Given the description of an element on the screen output the (x, y) to click on. 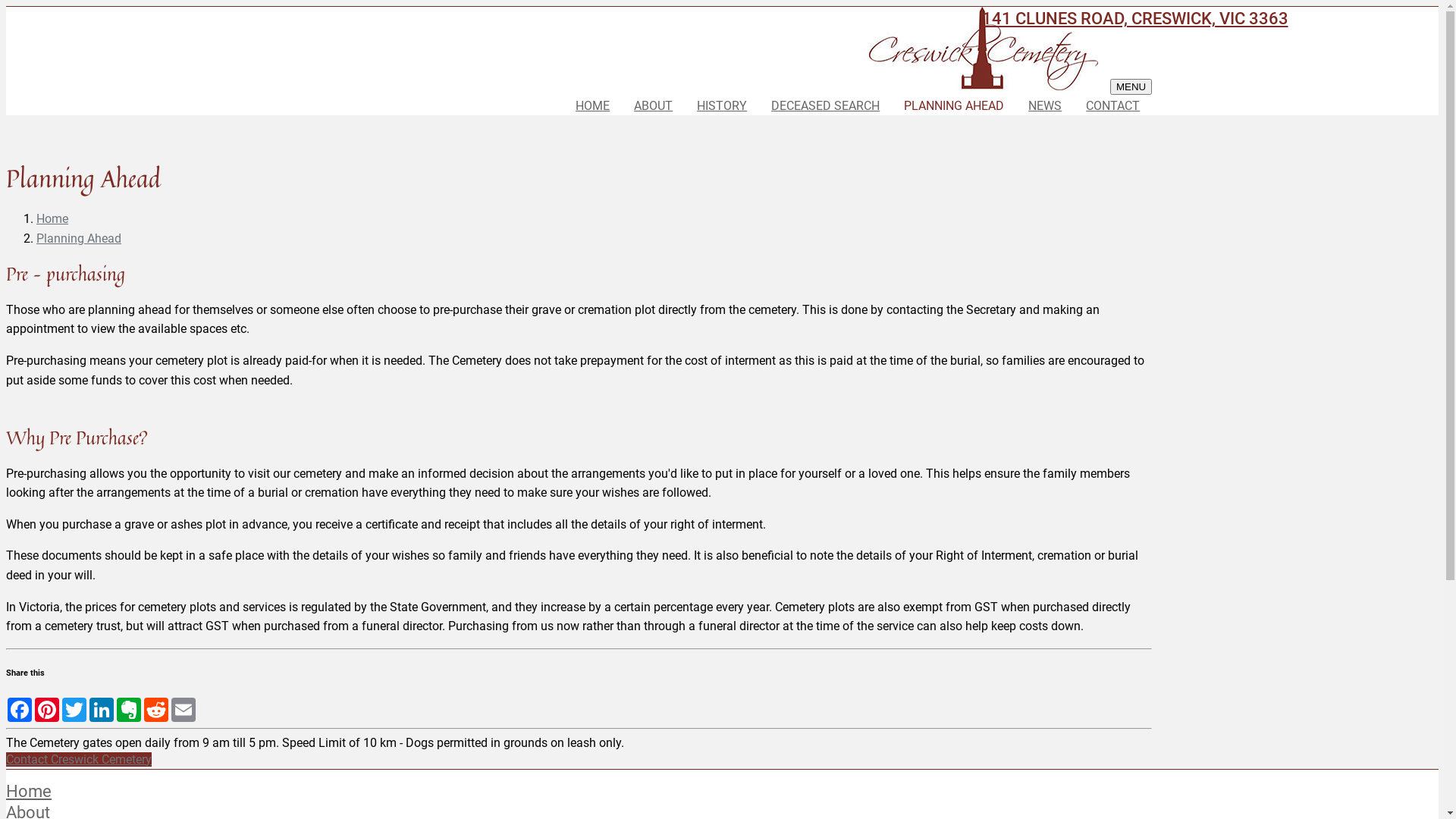
LinkedIn Element type: text (101, 709)
Pinterest Element type: text (46, 709)
HOME Element type: text (592, 105)
Contact Creswick Cemetery Element type: text (78, 759)
Email Element type: text (183, 709)
CONTACT Element type: text (1112, 105)
Home Element type: text (28, 790)
NEWS Element type: text (1044, 105)
HISTORY Element type: text (721, 105)
Twitter Element type: text (73, 709)
Reddit Element type: text (155, 709)
Facebook Element type: text (19, 709)
141 CLUNES ROAD, CRESWICK, VIC 3363 Element type: text (1134, 18)
PLANNING AHEAD Element type: text (953, 105)
Creswick Cemetery Element type: hover (983, 48)
ABOUT Element type: text (652, 105)
MENU Element type: text (1130, 86)
Planning Ahead Element type: text (78, 238)
Evernote Element type: text (128, 709)
Home Element type: text (52, 218)
DECEASED SEARCH Element type: text (825, 105)
